Given the description of an element on the screen output the (x, y) to click on. 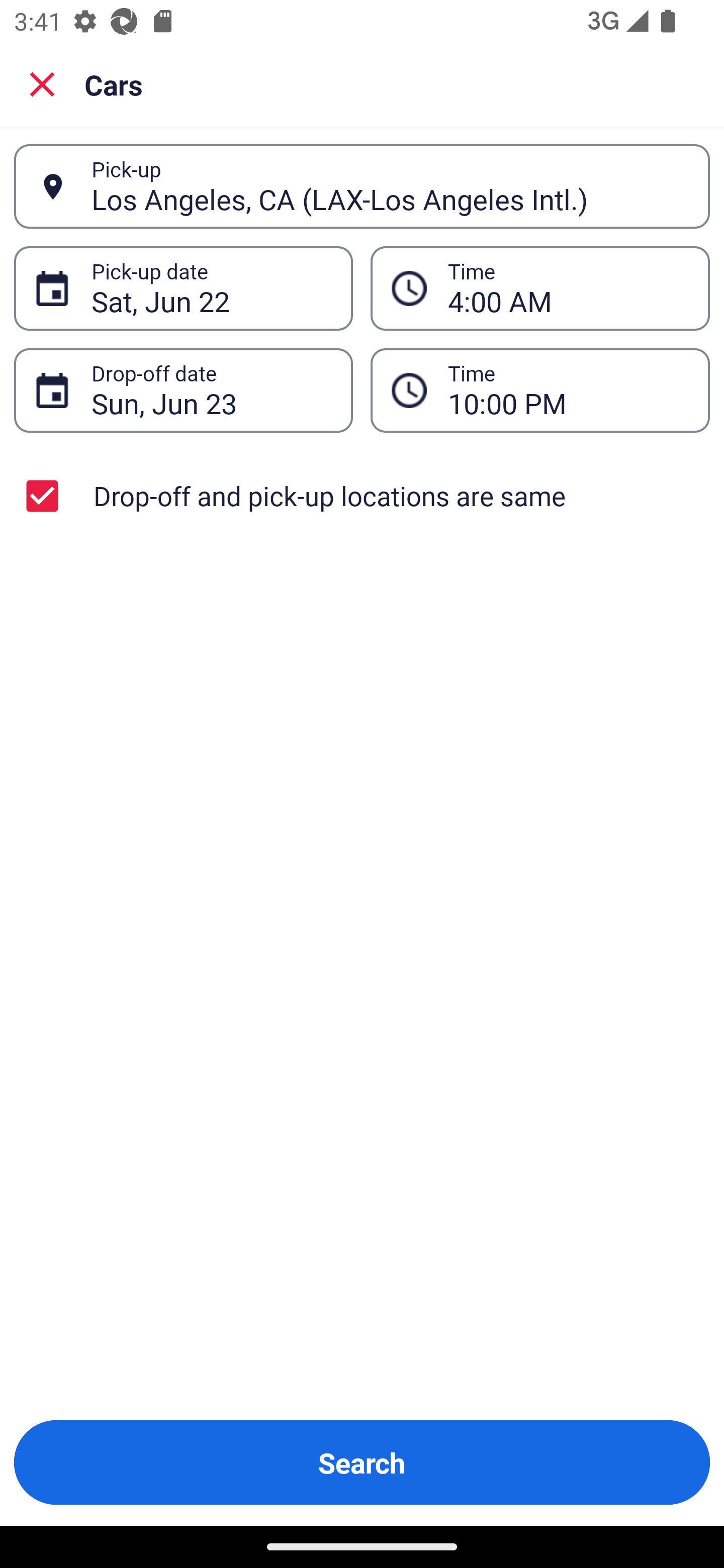
Close search screen (41, 83)
Los Angeles, CA (LAX-Los Angeles Intl.) Pick-up (361, 186)
Los Angeles, CA (LAX-Los Angeles Intl.) (389, 186)
Sat, Jun 22 Pick-up date (183, 288)
4:00 AM (540, 288)
Sat, Jun 22 (211, 288)
4:00 AM (568, 288)
Sun, Jun 23 Drop-off date (183, 390)
10:00 PM (540, 390)
Sun, Jun 23 (211, 390)
10:00 PM (568, 390)
Drop-off and pick-up locations are same (361, 495)
Search Button Search (361, 1462)
